Given the description of an element on the screen output the (x, y) to click on. 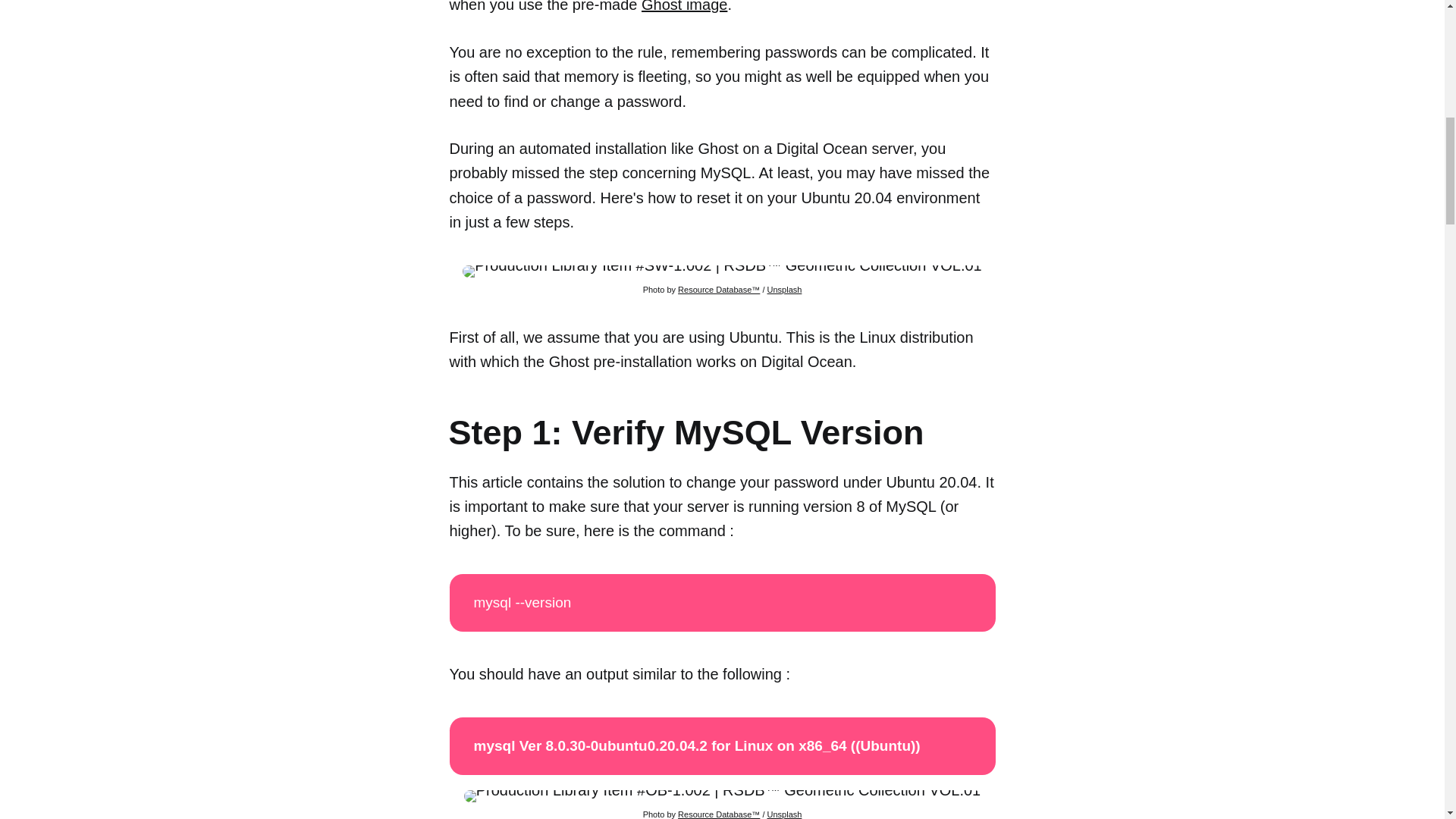
Ghost image (684, 6)
Unsplash (784, 289)
Unsplash (784, 814)
